Given the description of an element on the screen output the (x, y) to click on. 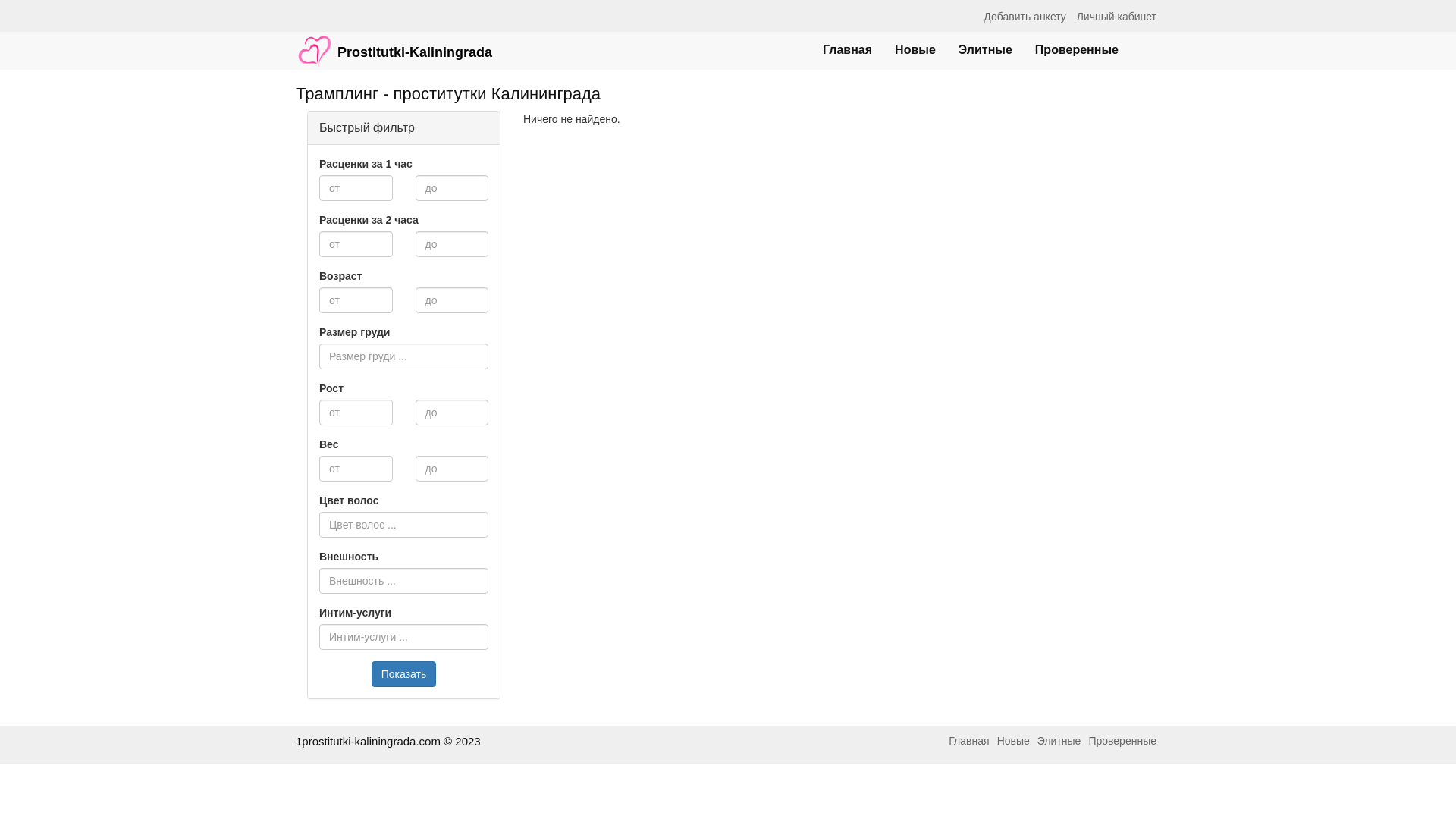
Prostitutki-Kaliningrada Element type: text (393, 43)
